Given the description of an element on the screen output the (x, y) to click on. 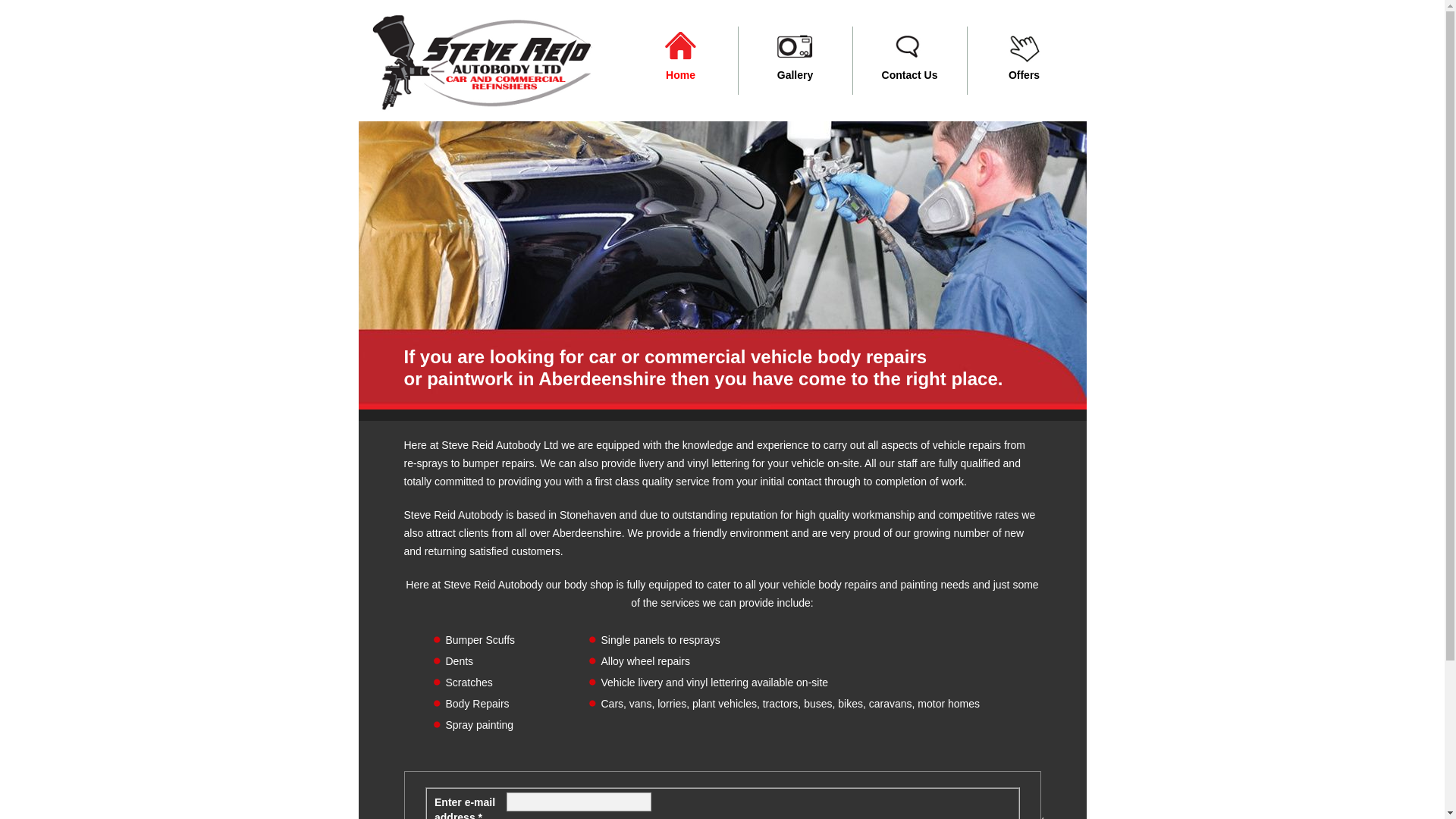
Contact Us (908, 60)
Offers (1024, 60)
Home (680, 60)
Gallery (795, 60)
Gallery (795, 60)
Contact Us (908, 60)
Home (680, 60)
Offers (1024, 60)
